Given the description of an element on the screen output the (x, y) to click on. 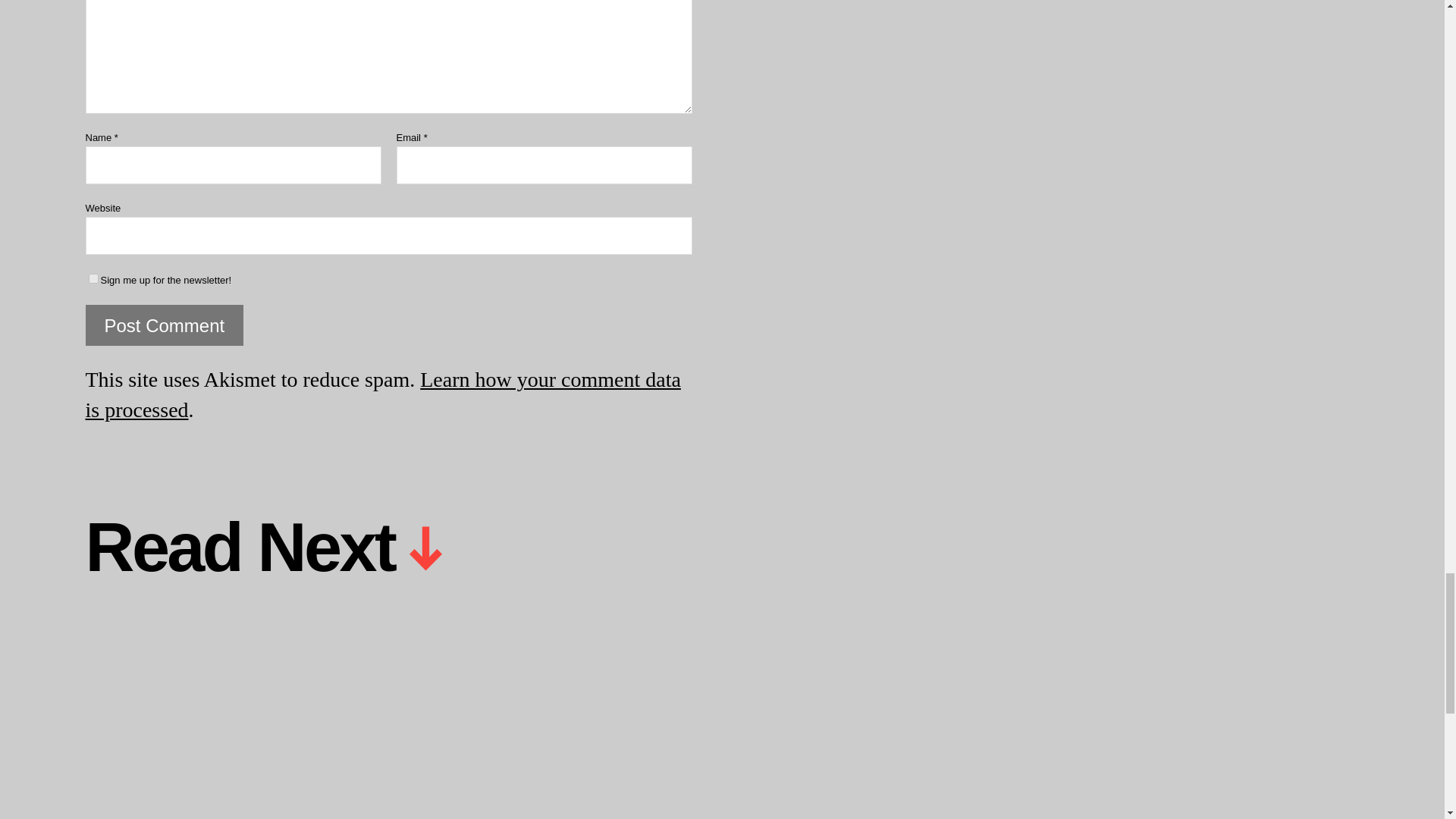
Post Comment (163, 325)
Post Comment (163, 325)
1 (92, 278)
Learn how your comment data is processed (381, 393)
